Given the description of an element on the screen output the (x, y) to click on. 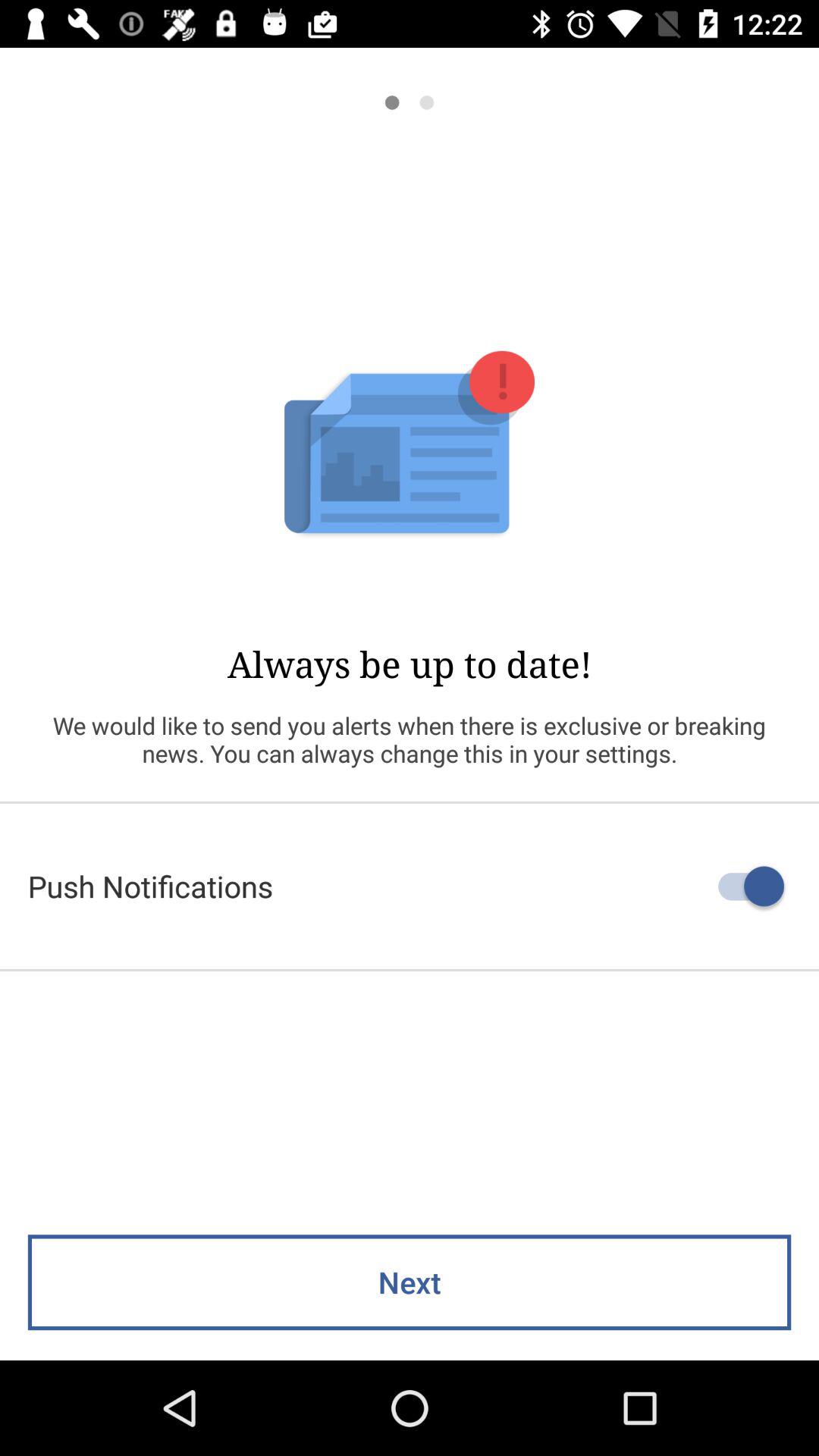
swipe until next (409, 1282)
